Given the description of an element on the screen output the (x, y) to click on. 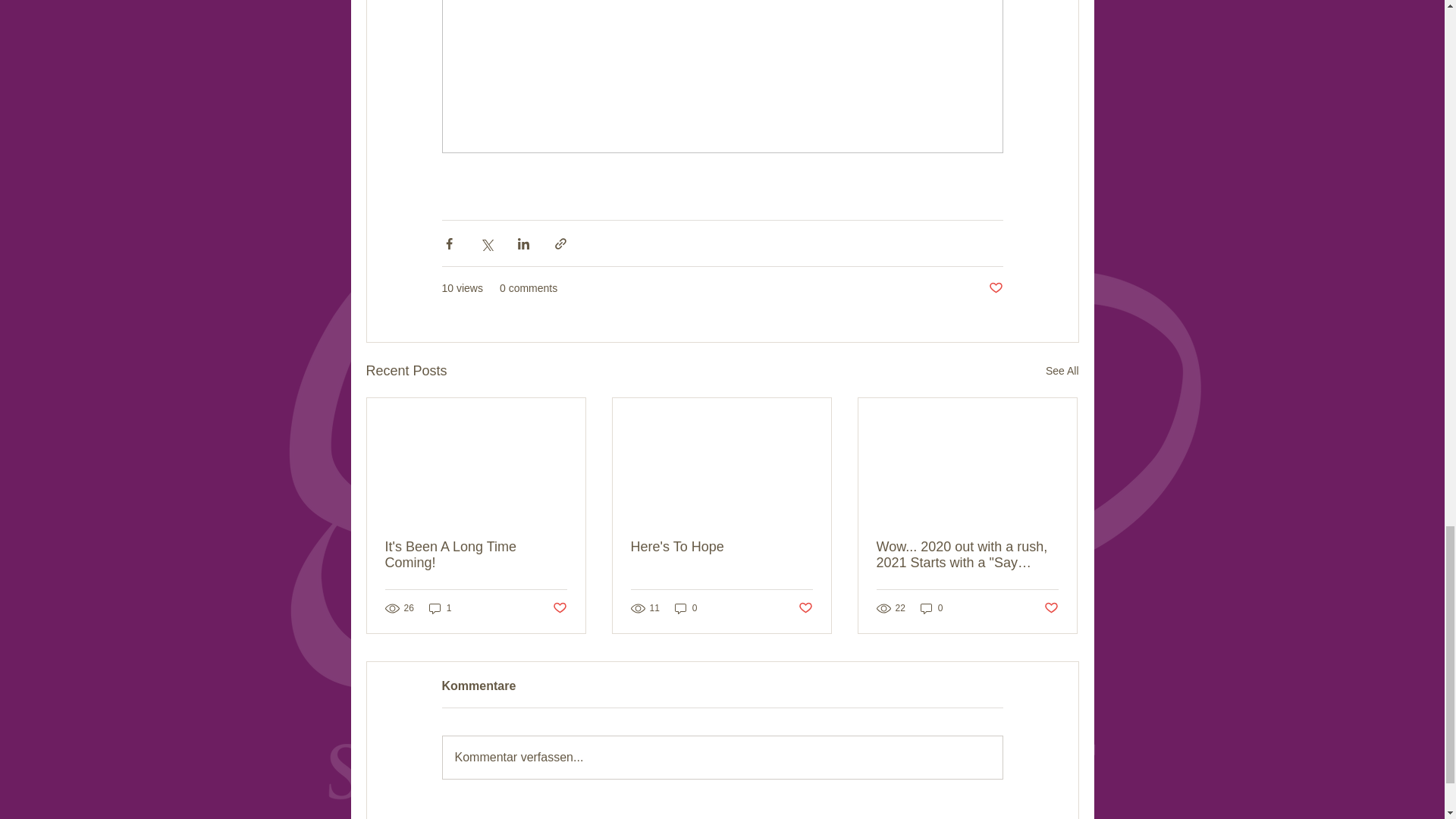
1 (440, 608)
Post not marked as liked (558, 608)
Here's To Hope (721, 546)
0 (685, 608)
See All (1061, 371)
Wow... 2020 out with a rush, 2021 Starts with a "Say What?" (967, 554)
Post not marked as liked (1050, 608)
0 (931, 608)
Kommentar verfassen... (722, 757)
It's Been A Long Time Coming! (476, 554)
Post not marked as liked (995, 288)
Post not marked as liked (804, 608)
